Given the description of an element on the screen output the (x, y) to click on. 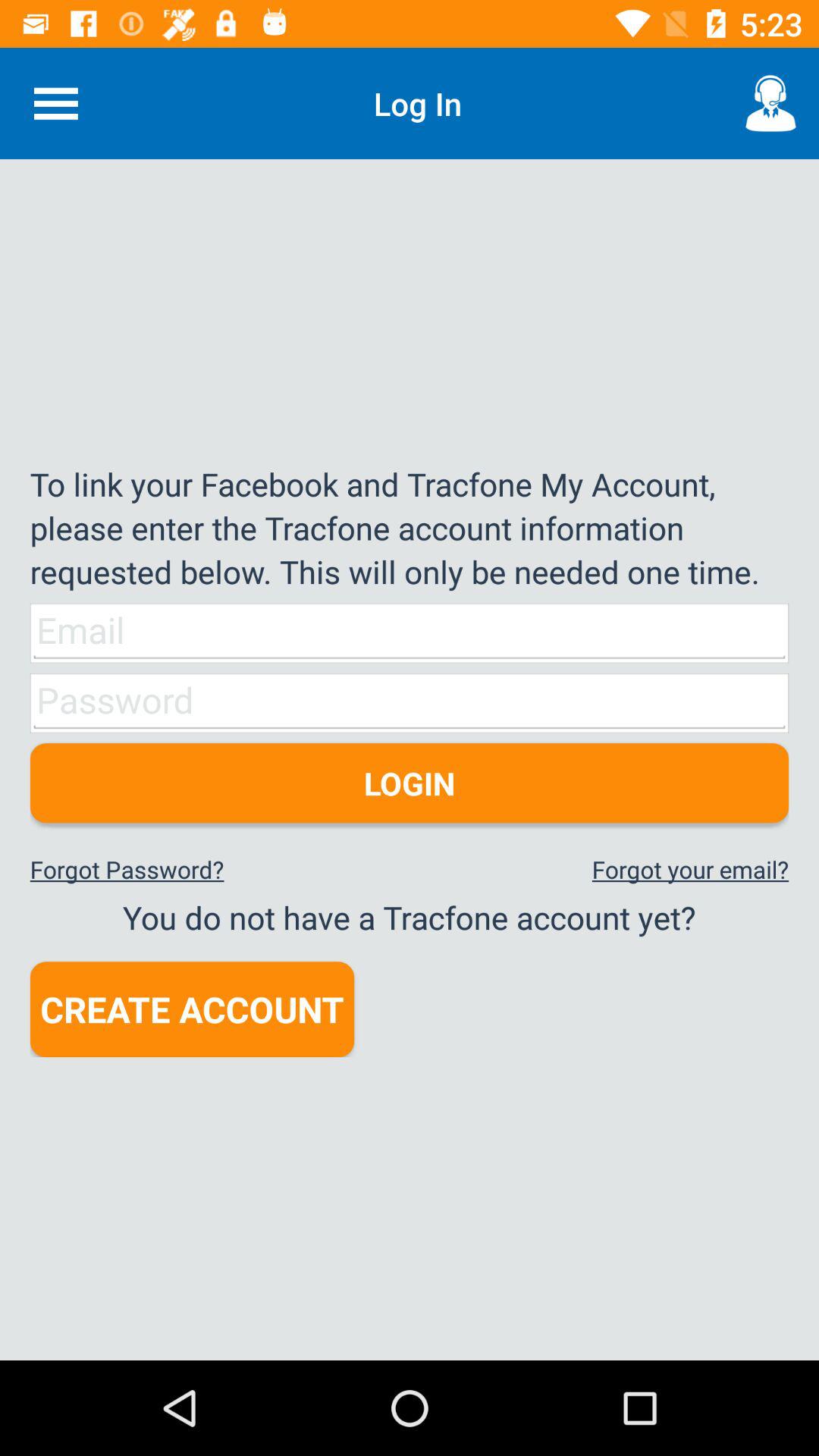
choose the create account icon (192, 1009)
